Given the description of an element on the screen output the (x, y) to click on. 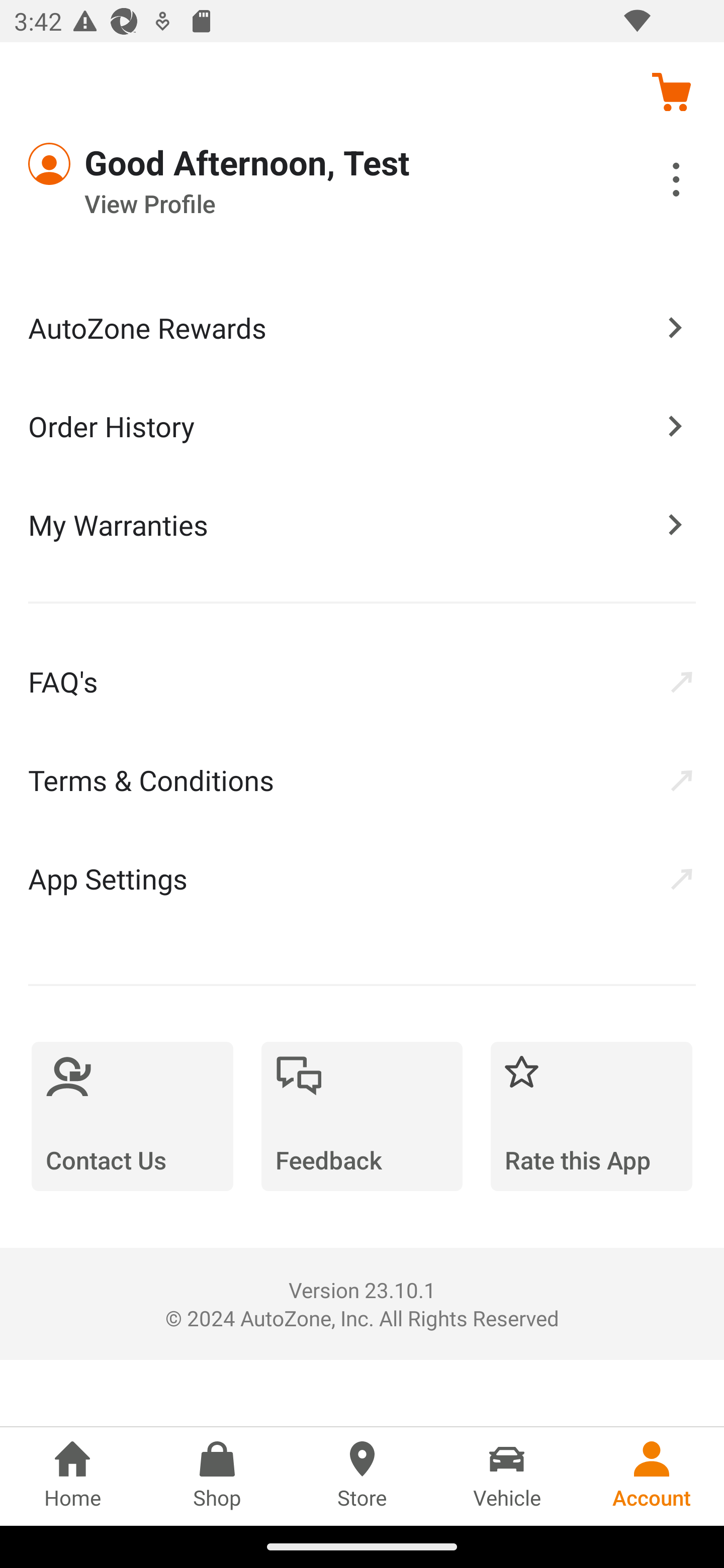
Cart, no items  (670, 91)
Good  (100, 163)
︙ (654, 182)
View Profile (306, 203)
AutoZone Rewards  (361, 327)
Order History  (361, 425)
My Warranties  (361, 524)
FAQ's  (361, 680)
Terms & Conditions  (361, 779)
App Settings  (361, 878)
Contact Us (132, 1116)
Feedback (361, 1116)
Rate this App (591, 1116)
Home (72, 1475)
Shop (216, 1475)
Store (361, 1475)
Vehicle (506, 1475)
Account (651, 1475)
